Given the description of an element on the screen output the (x, y) to click on. 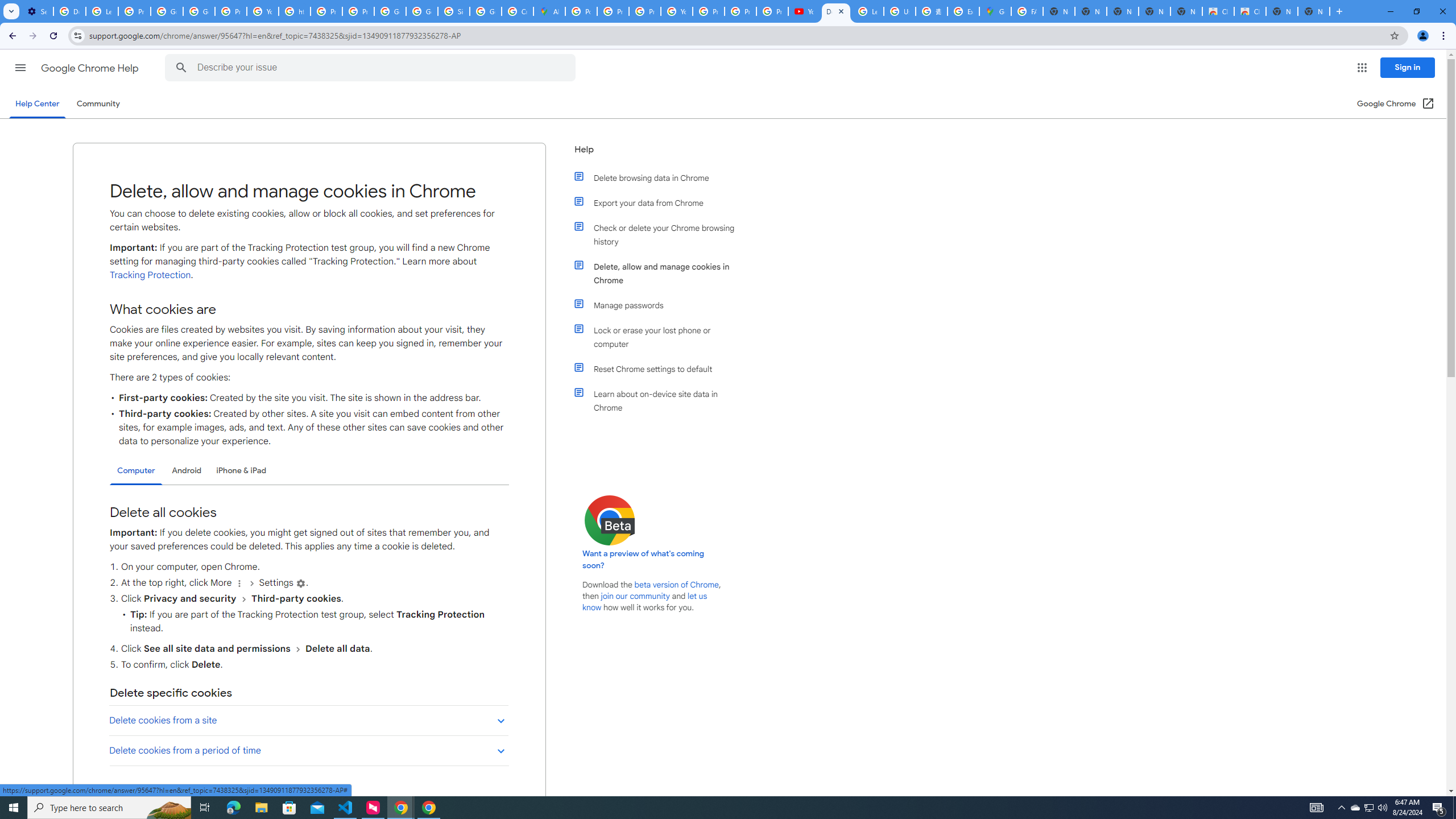
Manage passwords (661, 305)
More (239, 583)
Tracking Protection (149, 274)
Lock or erase your lost phone or computer (661, 336)
Learn how to find your photos - Google Photos Help (101, 11)
Classic Blue - Chrome Web Store (1217, 11)
and then (297, 648)
Google Account Help (166, 11)
